Given the description of an element on the screen output the (x, y) to click on. 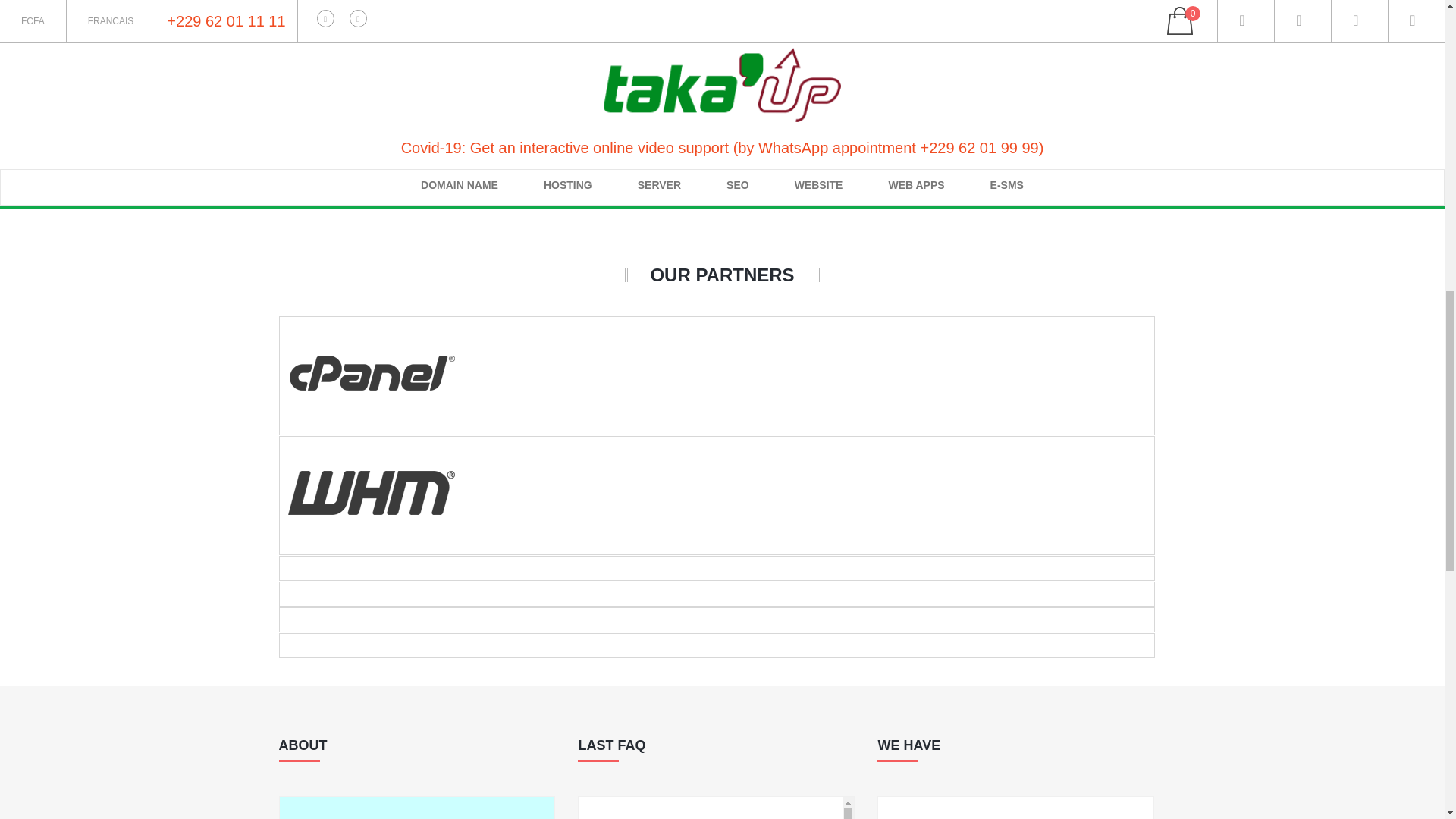
3 TECHNICAL EQUIPMENT (828, 129)
2 PHYLOSOPHY (828, 78)
4 HARDWARE SECURITY (828, 180)
